Given the description of an element on the screen output the (x, y) to click on. 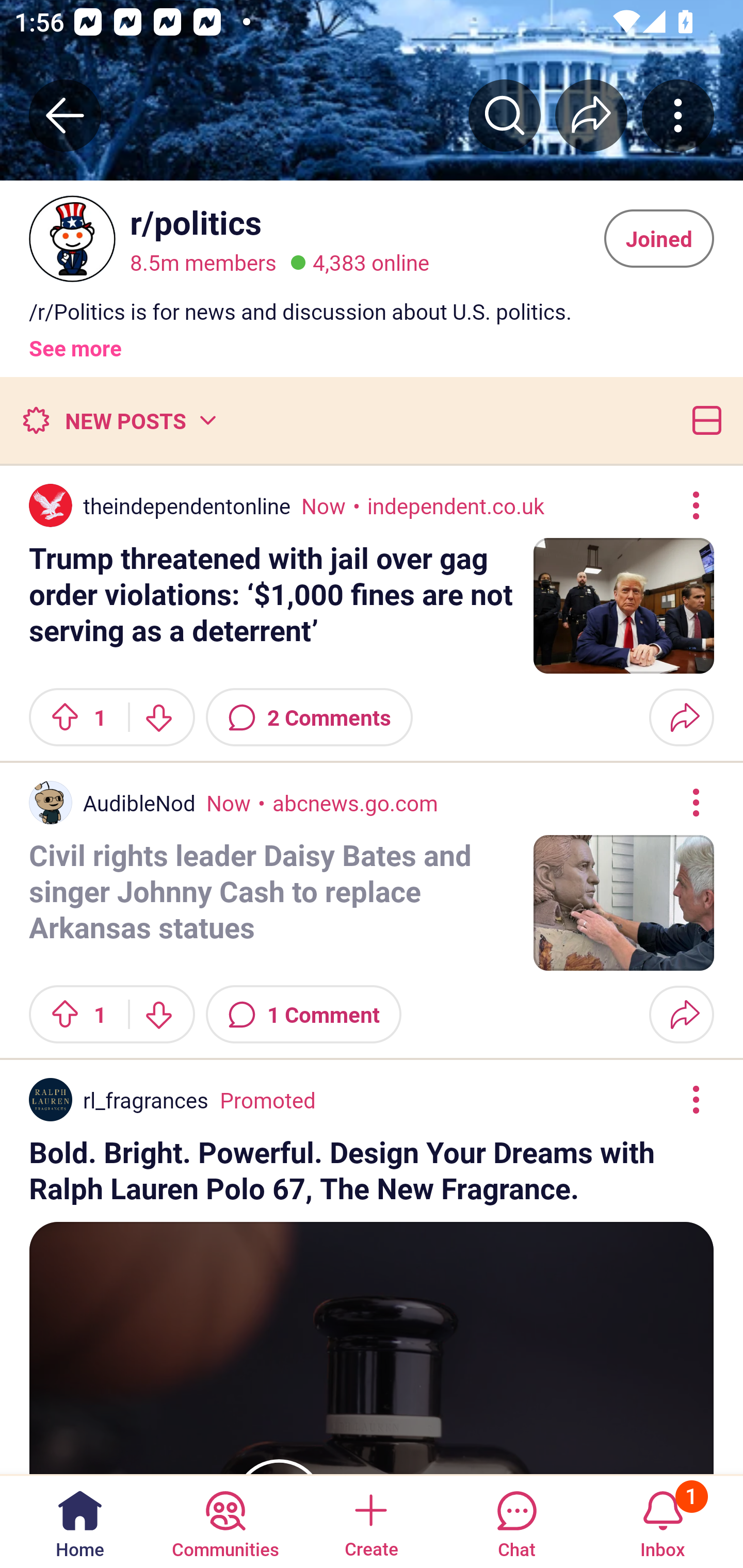
Back (64, 115)
Search r/﻿politics (504, 115)
Share r/﻿politics (591, 115)
More community actions (677, 115)
See more (74, 340)
New posts NEW POSTS (118, 420)
Card (703, 420)
Home (80, 1520)
Communities (225, 1520)
Create a post Create (370, 1520)
Chat (516, 1520)
Inbox, has 1 notification 1 Inbox (662, 1520)
